Given the description of an element on the screen output the (x, y) to click on. 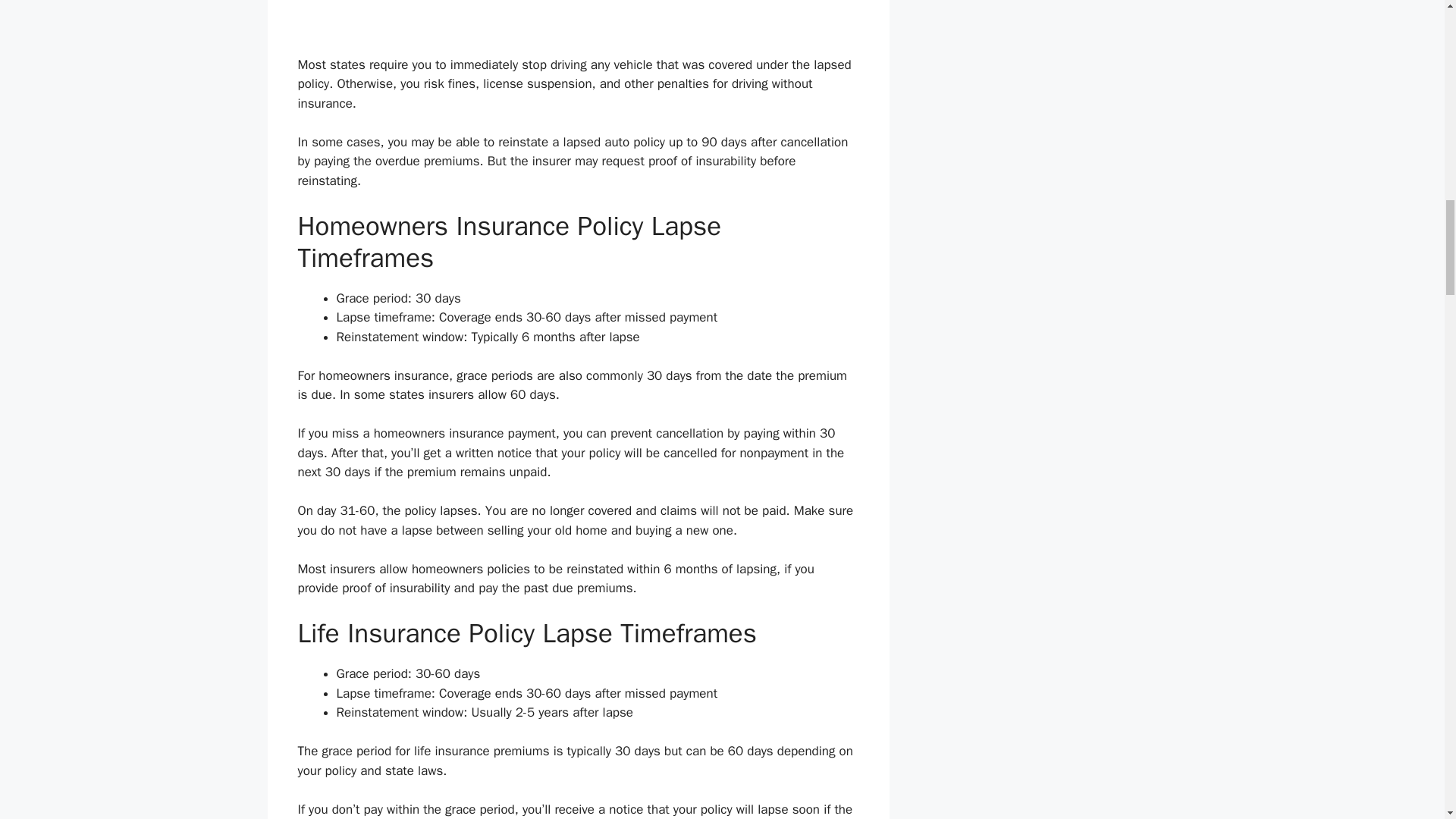
Advertisement (578, 27)
